Given the description of an element on the screen output the (x, y) to click on. 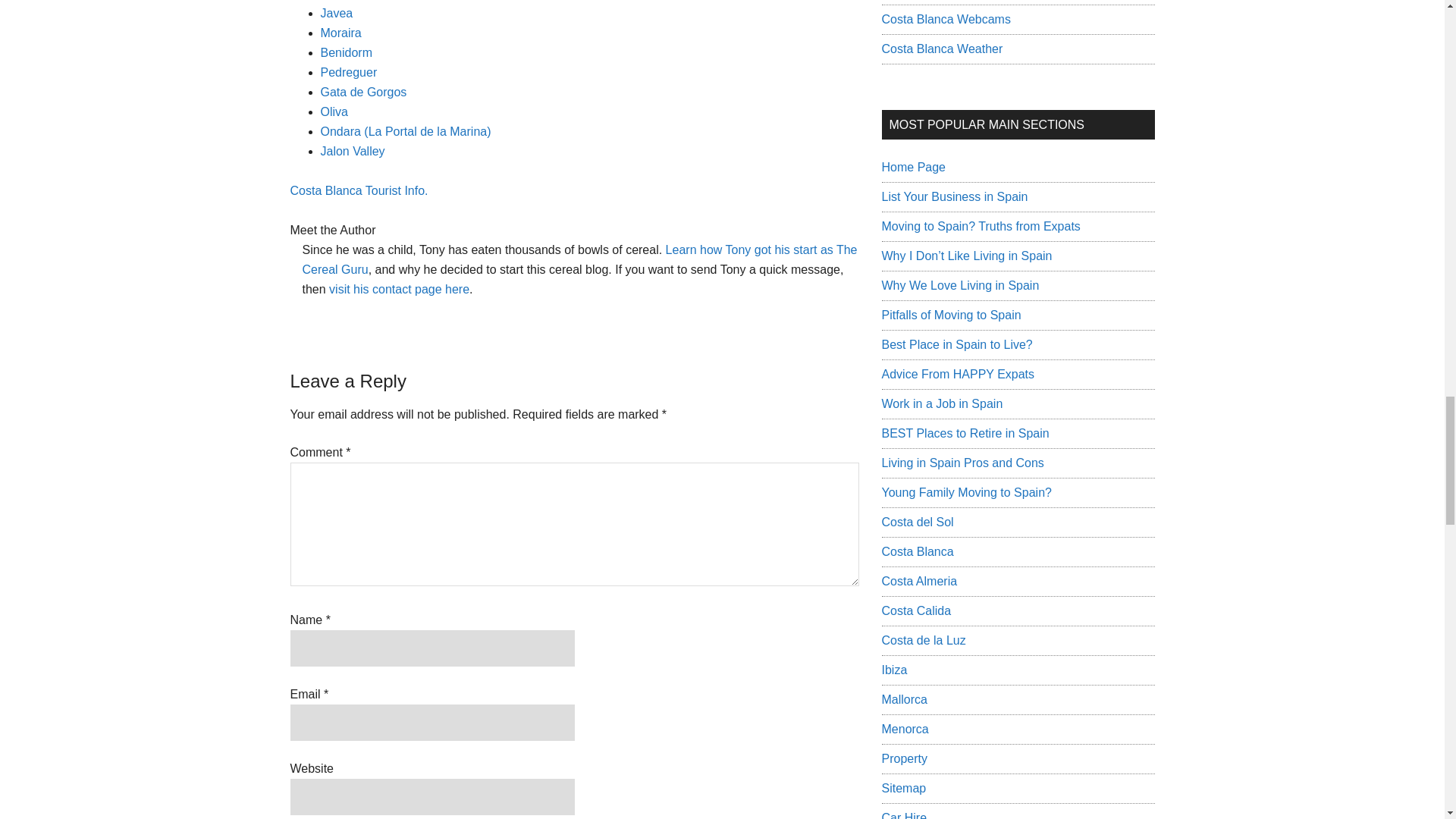
Javea (336, 12)
Pedreguer (348, 72)
Jalon Valley (352, 151)
Learn how Tony got his start as The Cereal Guru (579, 259)
Oliva (333, 111)
Moraira (340, 32)
Benidorm (345, 51)
visit his contact page here (398, 288)
Gata de Gorgos (363, 91)
Costa Blanca Tourist Info. (358, 190)
